Given the description of an element on the screen output the (x, y) to click on. 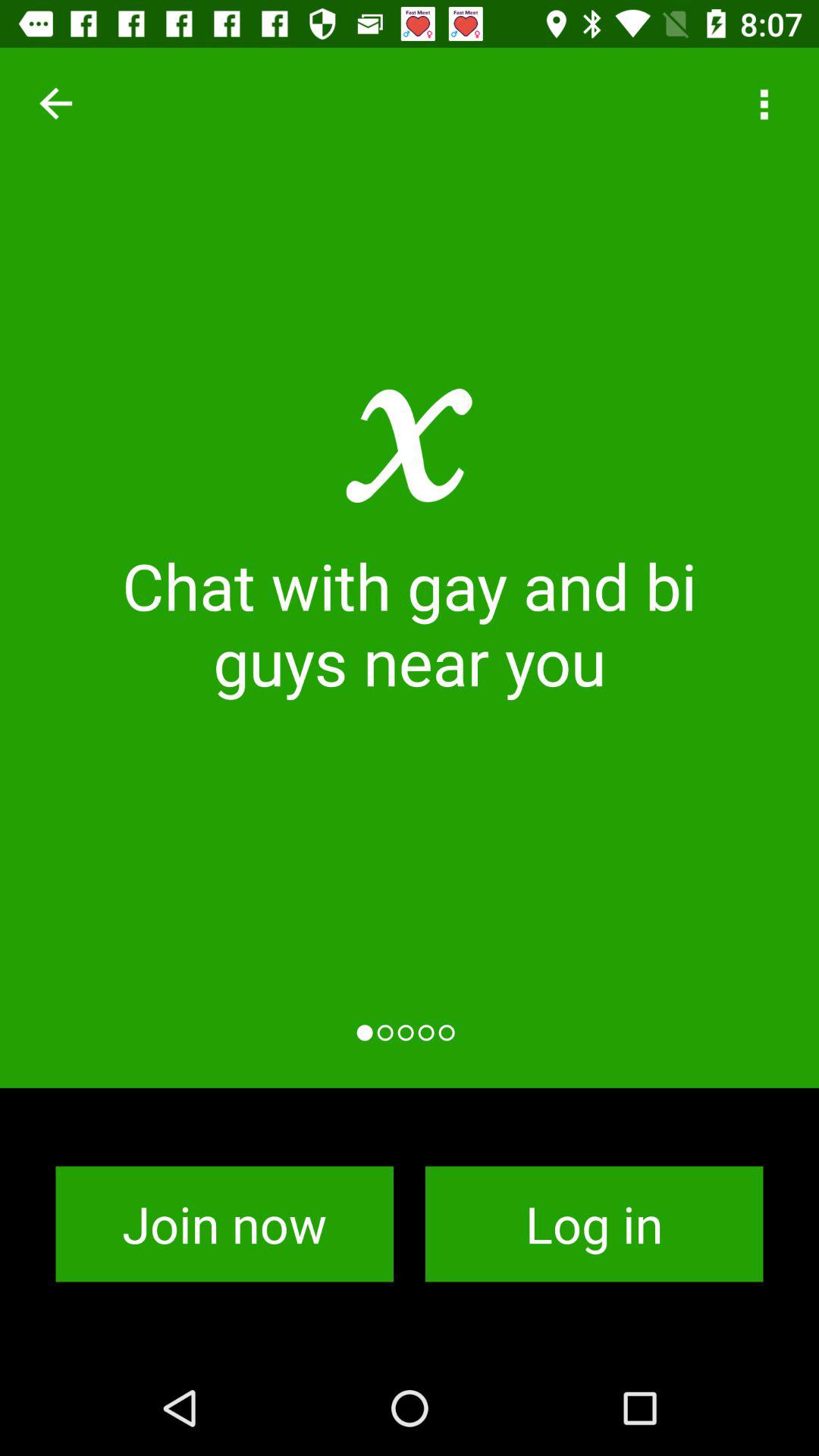
choose the icon above chat with gay (55, 103)
